Given the description of an element on the screen output the (x, y) to click on. 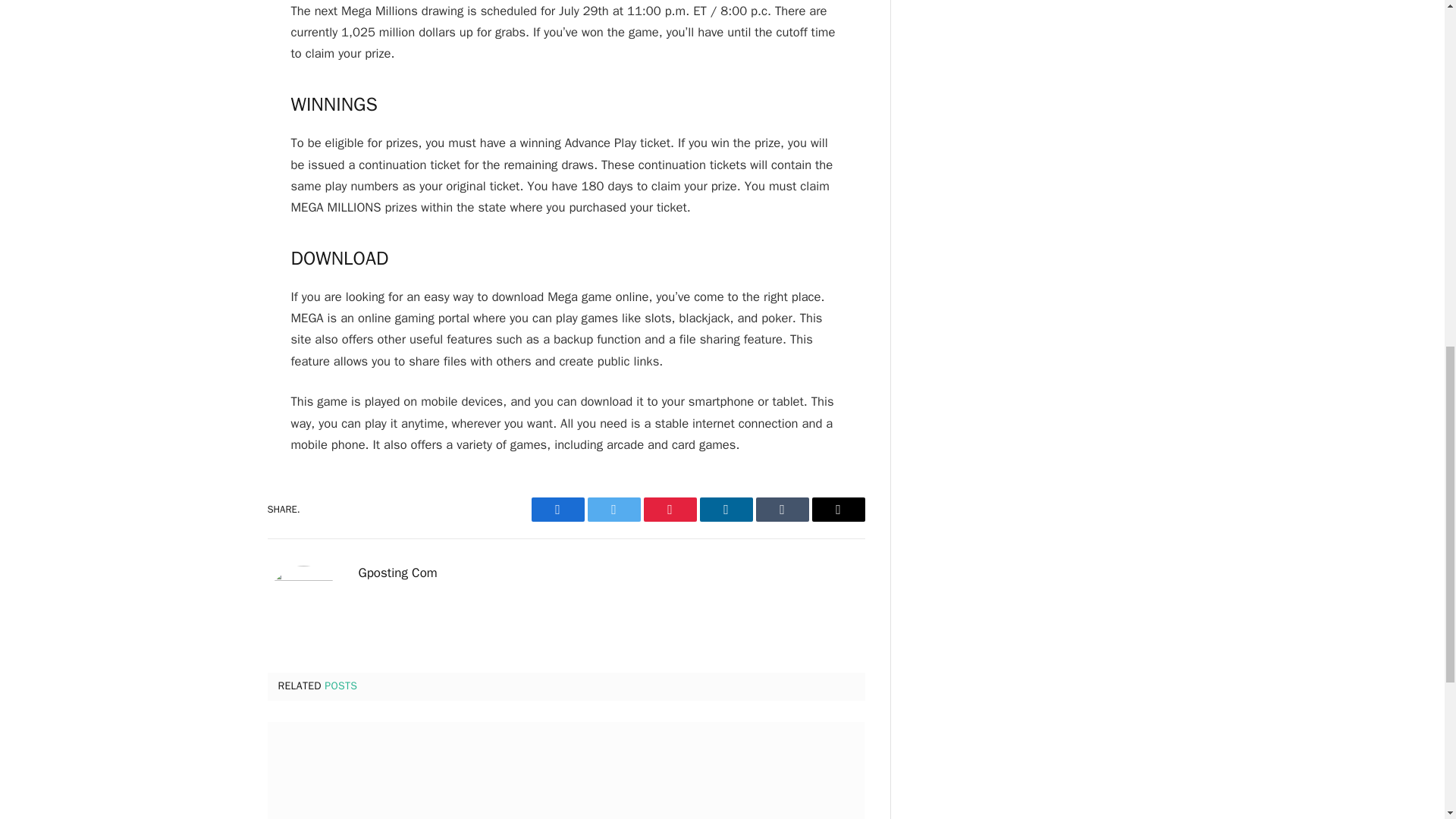
Twitter (613, 509)
Facebook (557, 509)
